Given the description of an element on the screen output the (x, y) to click on. 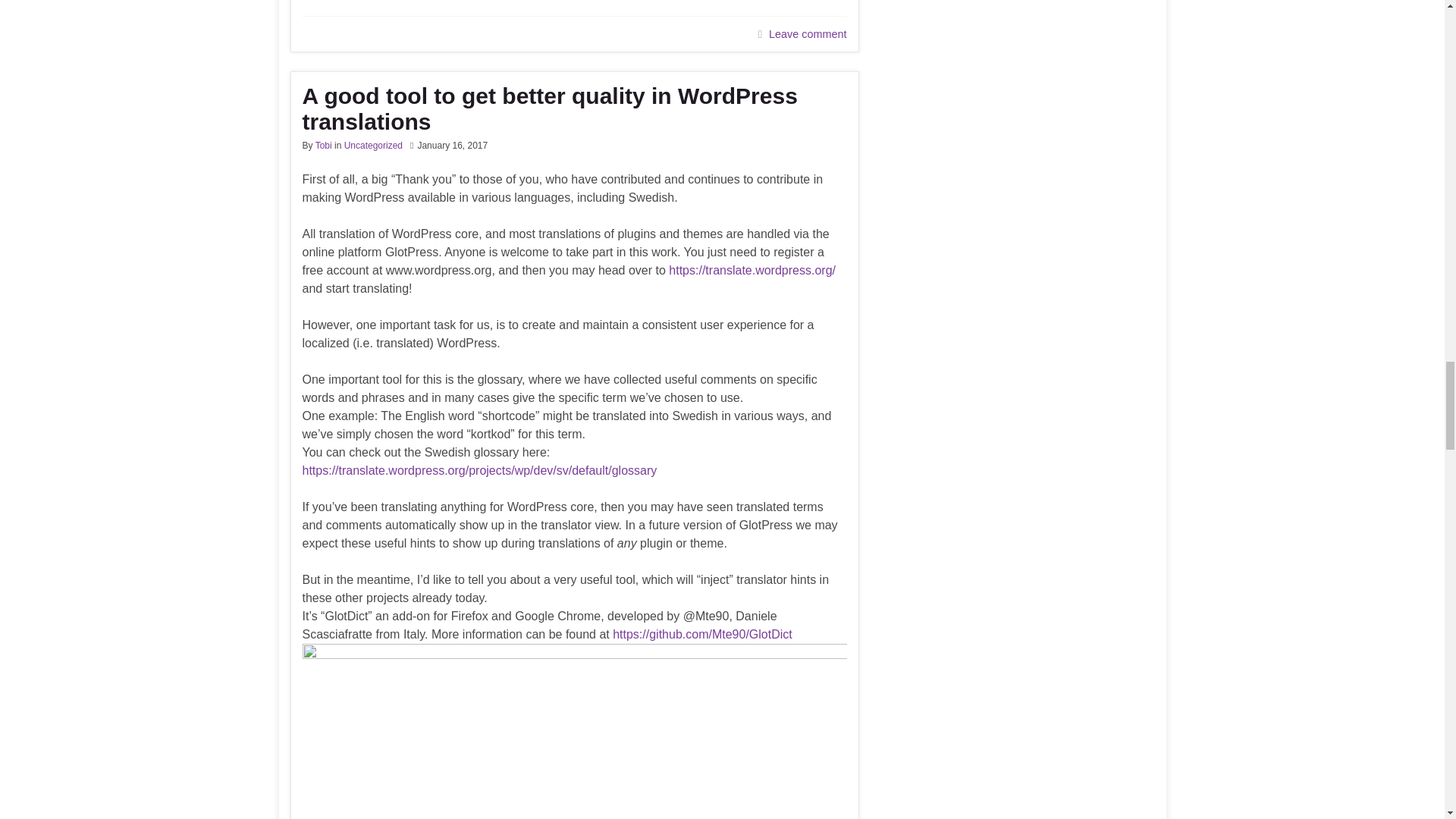
Tobi (323, 145)
Leave comment (806, 33)
Uncategorized (373, 145)
A good tool to get better quality in WordPress translations (573, 109)
